Given the description of an element on the screen output the (x, y) to click on. 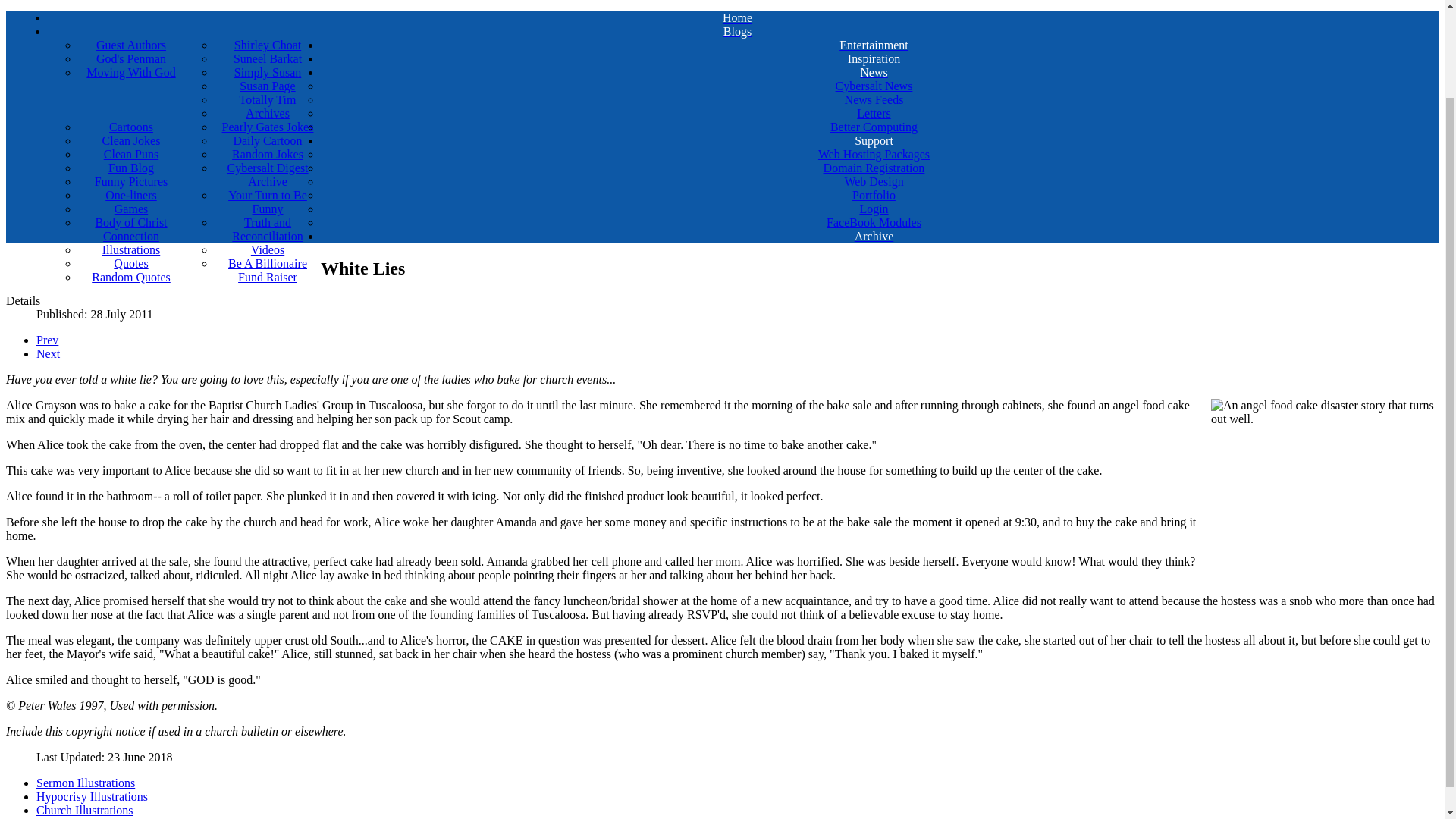
Cybersalt Digest Archive (267, 175)
One-liners (131, 195)
Be A Billionaire Fund Raiser (267, 270)
Better Computing (873, 127)
News (873, 72)
Cybersalt News (873, 86)
Entertainment (873, 45)
Susan Page (267, 86)
News Feeds (873, 100)
Totally Tim (267, 100)
